Given the description of an element on the screen output the (x, y) to click on. 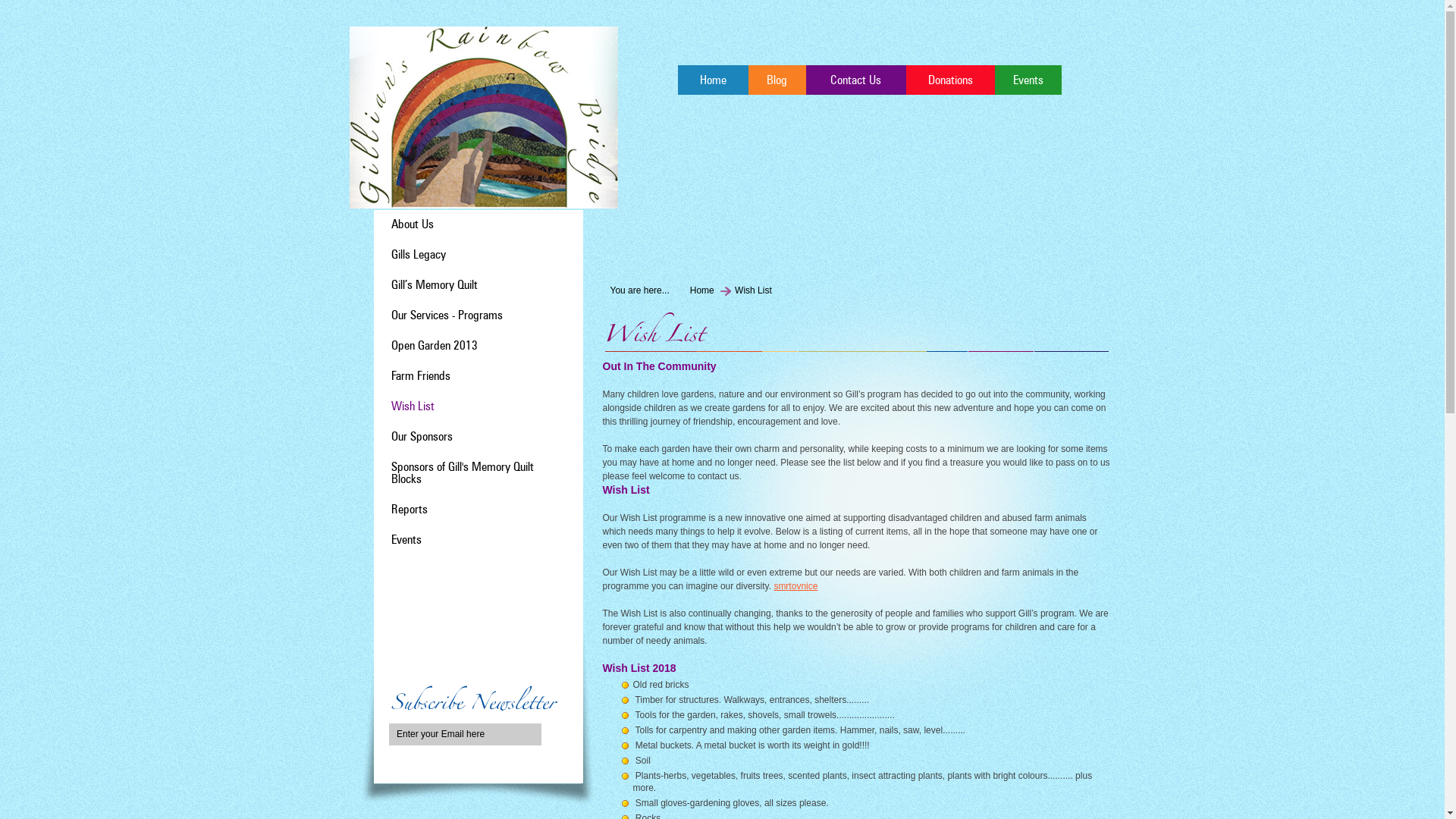
Open Garden 2013 Element type: text (434, 346)
Events Element type: text (1027, 79)
Blog Element type: text (776, 79)
Farm Friends Element type: text (420, 376)
Our Services - Programs Element type: text (446, 316)
Home Element type: text (712, 79)
Sponsors of Gill's Memory Quilt Blocks Element type: text (462, 473)
smrtovnice Element type: text (795, 585)
Reports Element type: text (409, 510)
Wish List Element type: text (412, 407)
Our Sponsors Element type: text (421, 437)
Gills Legacy Element type: text (418, 255)
About Us Element type: text (412, 225)
Contact Us Element type: text (855, 79)
Home Element type: text (702, 290)
Donations Element type: text (513, 619)
Gillian's Rainbow Bridge Element type: hover (482, 117)
Donations Element type: text (949, 79)
Events Element type: text (406, 540)
